Given the description of an element on the screen output the (x, y) to click on. 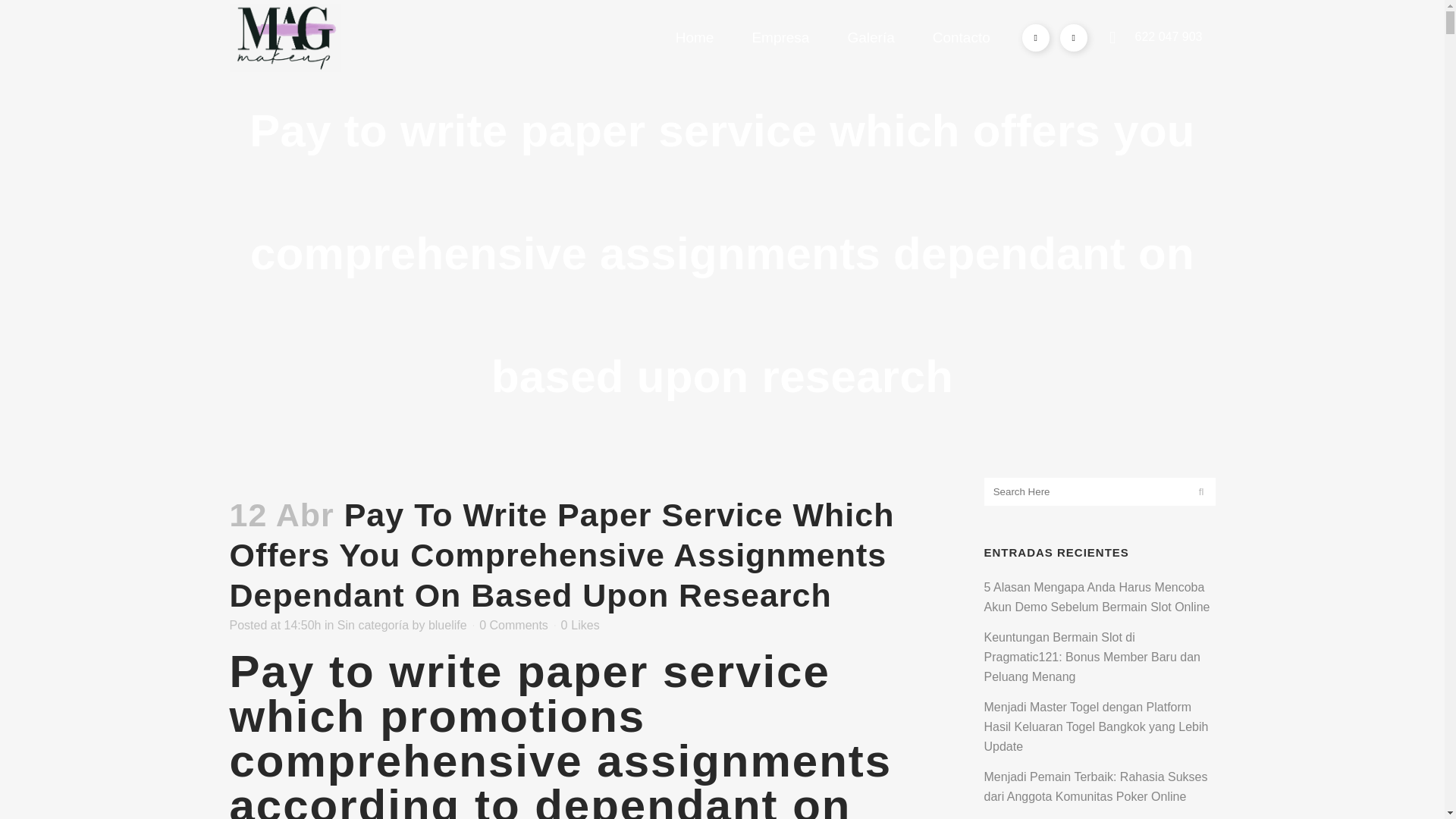
0 Likes (579, 624)
bluelife (447, 625)
Empresa (780, 38)
0 Comments (513, 625)
Like this (579, 624)
Contacto (961, 38)
Home (694, 38)
